Given the description of an element on the screen output the (x, y) to click on. 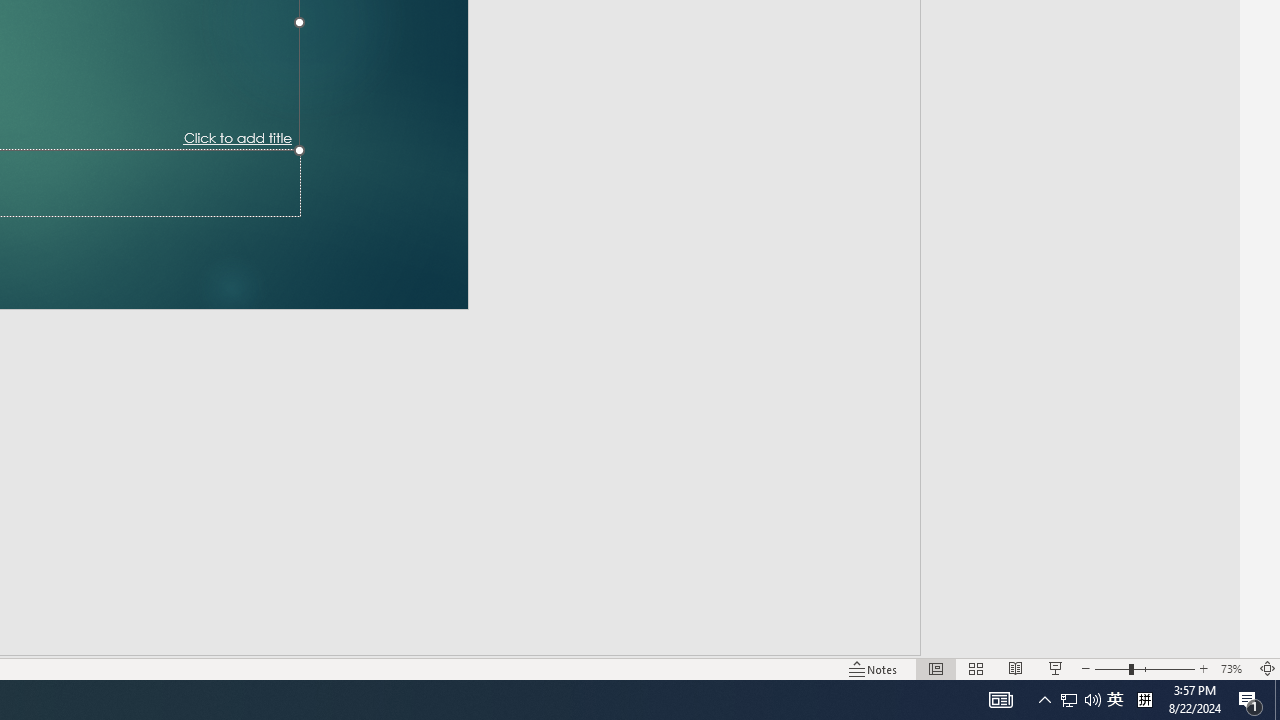
Zoom 73% (1234, 668)
